Given the description of an element on the screen output the (x, y) to click on. 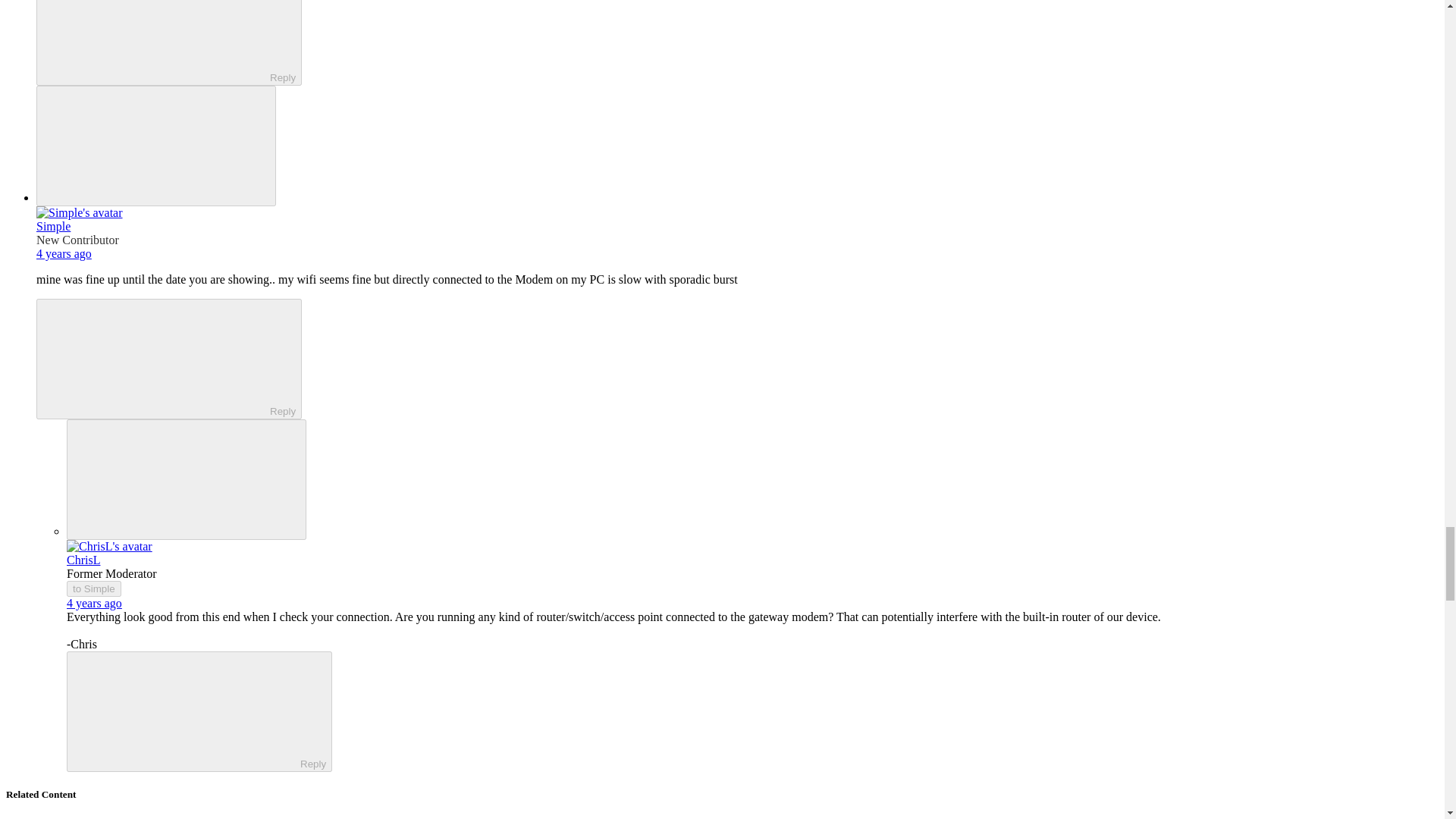
August 15, 2020 at 2:07 PM (94, 603)
August 14, 2020 at 2:34 PM (63, 253)
